Given the description of an element on the screen output the (x, y) to click on. 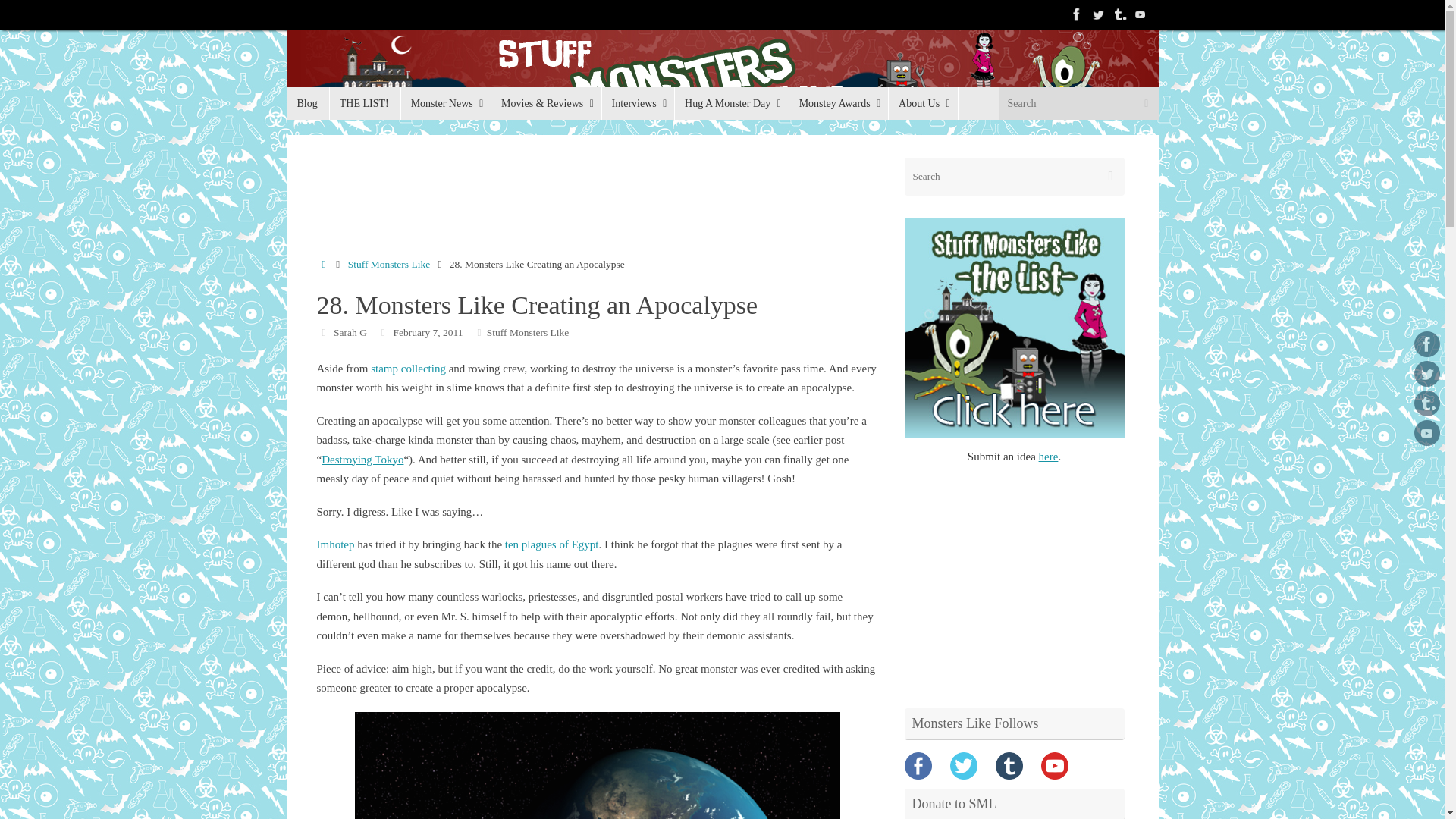
Hug A Monster Day (731, 102)
Interviews (637, 102)
Tumblr (1118, 14)
Stuff Monsters Like (722, 75)
Facebook (1426, 344)
Monster News (445, 102)
Twitter (1426, 373)
Facebook (1076, 14)
YouTube (1140, 14)
Monstey Awards (838, 102)
Twitter (1097, 14)
Blog (307, 102)
THE LIST! (364, 102)
Tumblr (1426, 403)
YouTube (1426, 432)
